Given the description of an element on the screen output the (x, y) to click on. 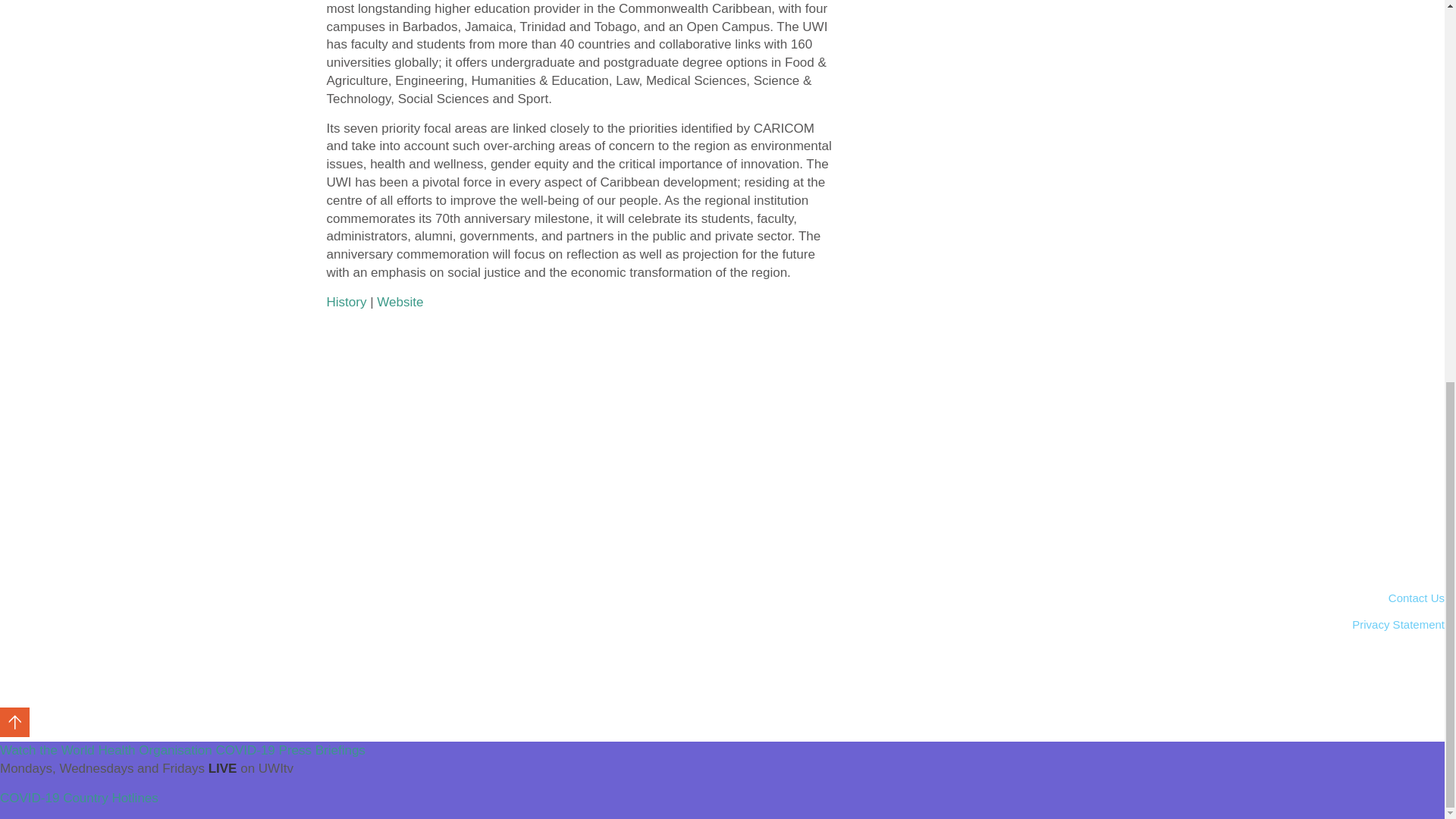
UWI website (400, 301)
COVID-19 Country Hotlines (79, 798)
History (346, 301)
Website (400, 301)
Watch the World Health Organisation COVID-19 Press Briefings (182, 749)
History (346, 301)
